Given the description of an element on the screen output the (x, y) to click on. 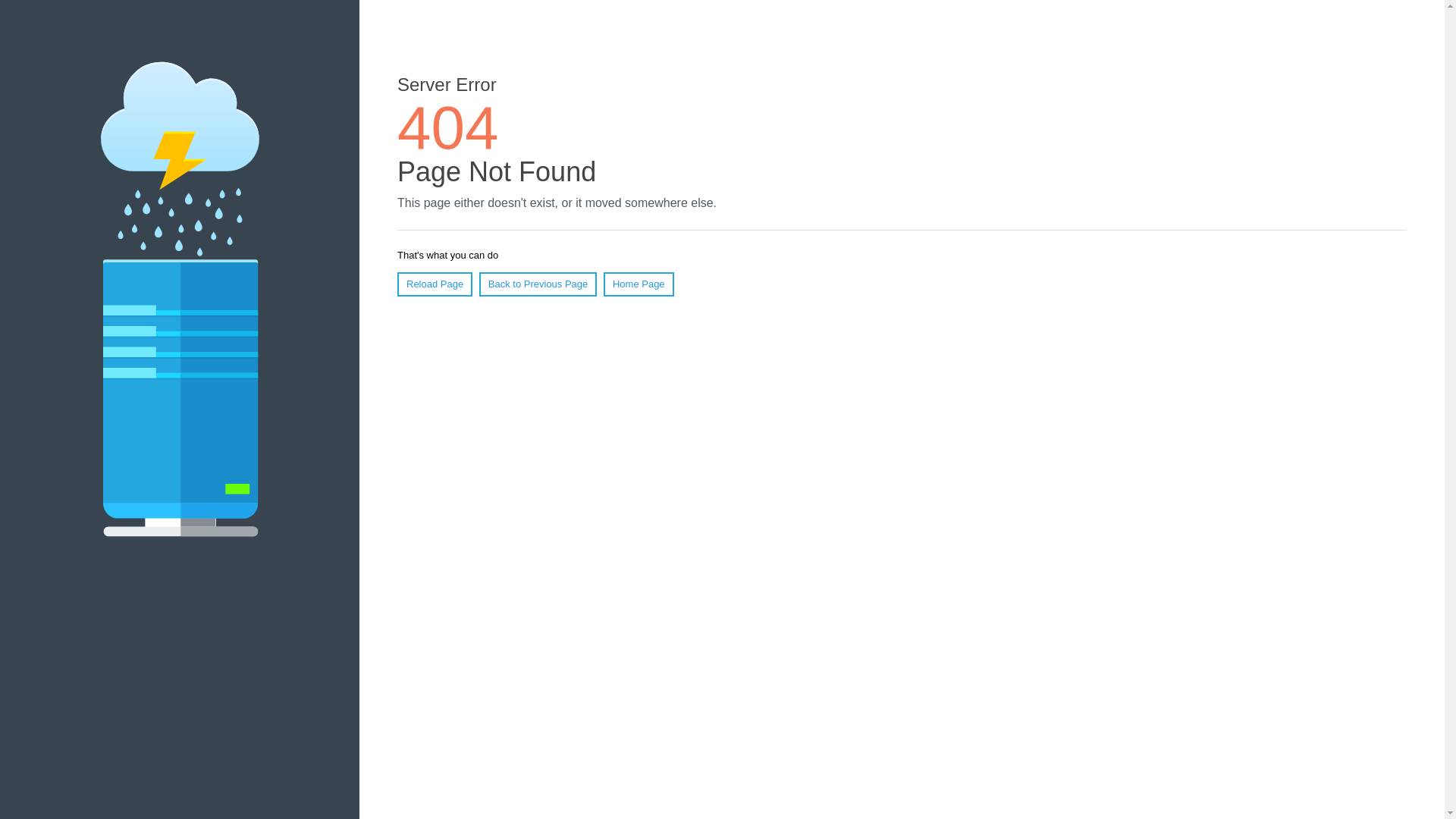
Reload Page Element type: text (434, 284)
Home Page Element type: text (638, 284)
Back to Previous Page Element type: text (538, 284)
